Given the description of an element on the screen output the (x, y) to click on. 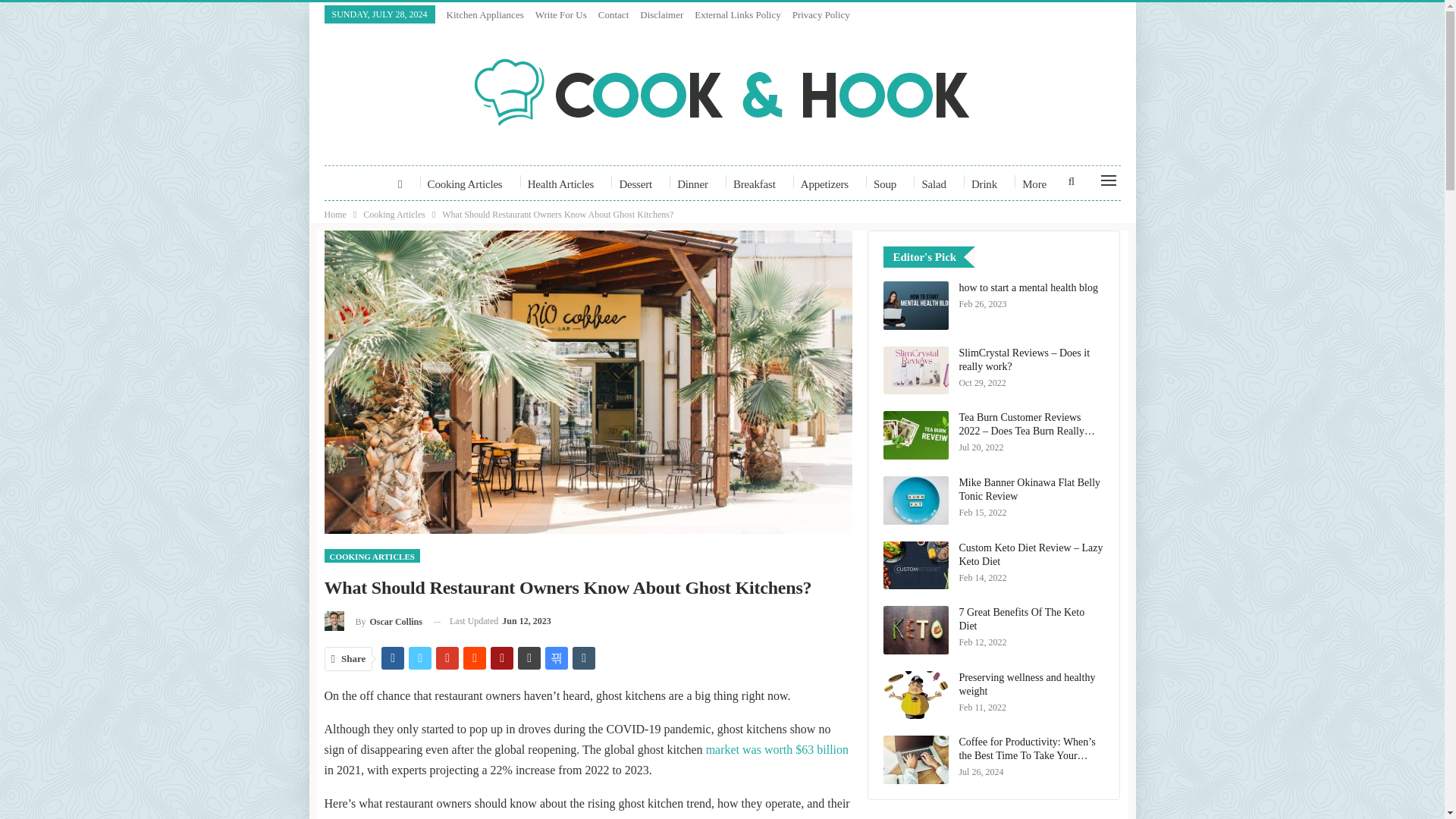
Disclaimer (661, 14)
Health Articles (560, 184)
Kitchen Appliances (485, 14)
Contact (613, 14)
External Links Policy (737, 14)
Write For Us (560, 14)
Cooking Articles (464, 184)
Privacy Policy (821, 14)
